Given the description of an element on the screen output the (x, y) to click on. 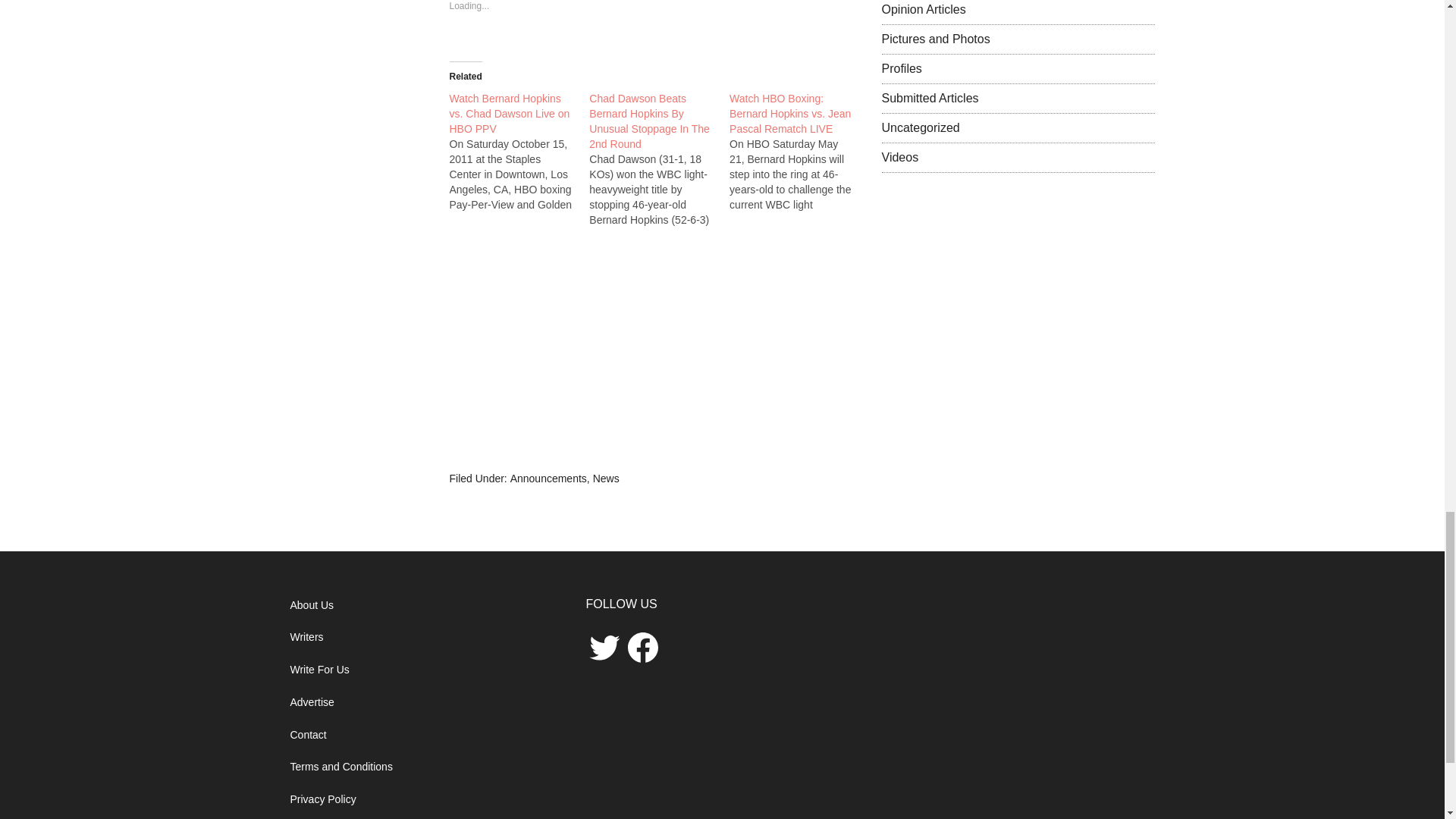
Watch Bernard Hopkins vs. Chad Dawson Live on HBO PPV (508, 113)
Watch Bernard Hopkins vs. Chad Dawson Live on HBO PPV (508, 113)
Watch Bernard Hopkins vs. Chad Dawson Live on HBO PPV (518, 151)
Announcements (548, 478)
News (606, 478)
